Given the description of an element on the screen output the (x, y) to click on. 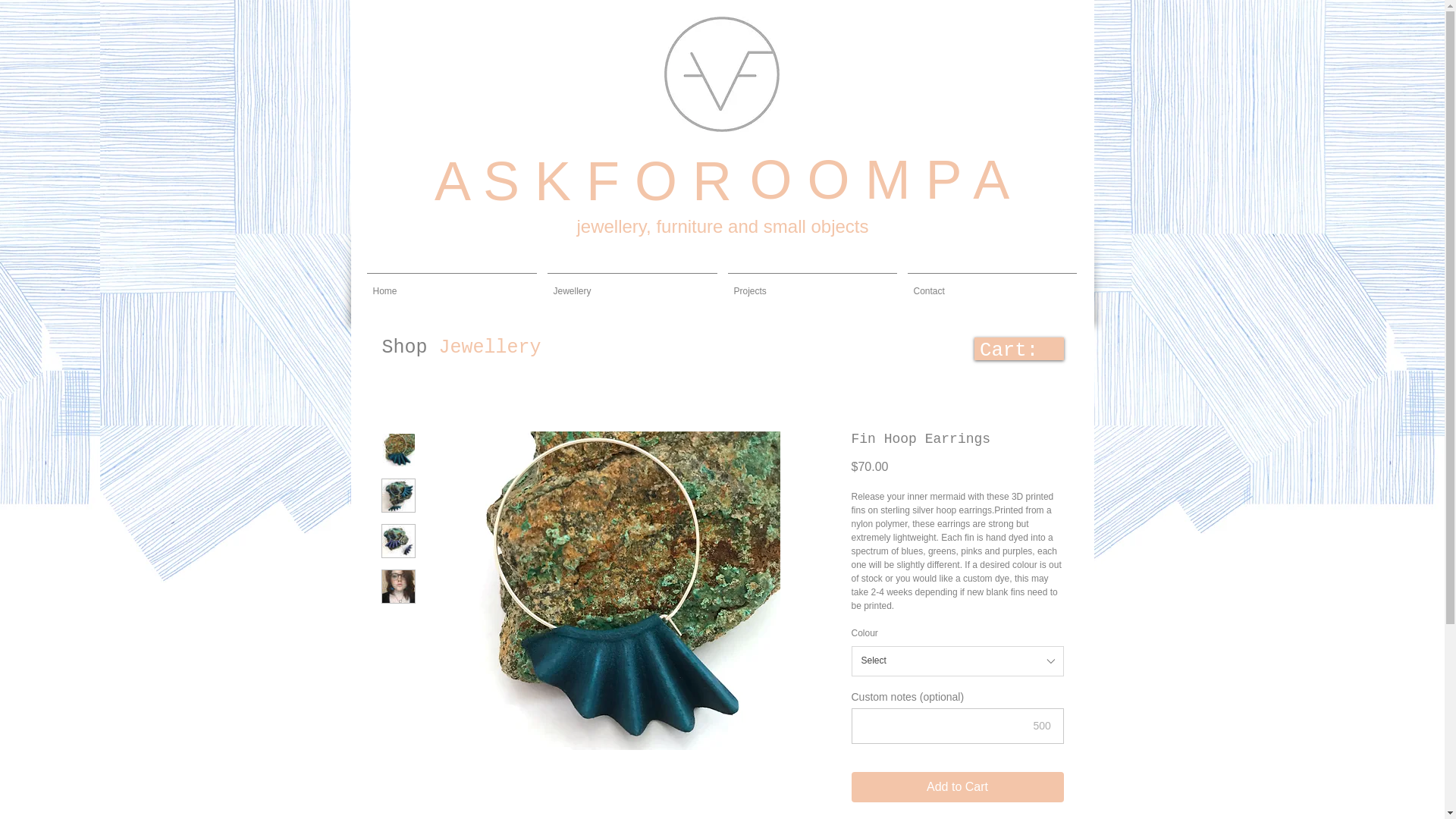
Home (451, 283)
Contact (991, 283)
Add to Cart (956, 787)
Jewellery (490, 347)
Cart: (992, 348)
A S K F O R (582, 185)
Cart: (992, 348)
Jewellery (631, 283)
 O O M P A (872, 184)
A S K F O R O O M P A (722, 166)
Select (956, 661)
jewellery, furniture and small objects (721, 227)
Projects (811, 283)
logoweb.jpg (720, 73)
